Given the description of an element on the screen output the (x, y) to click on. 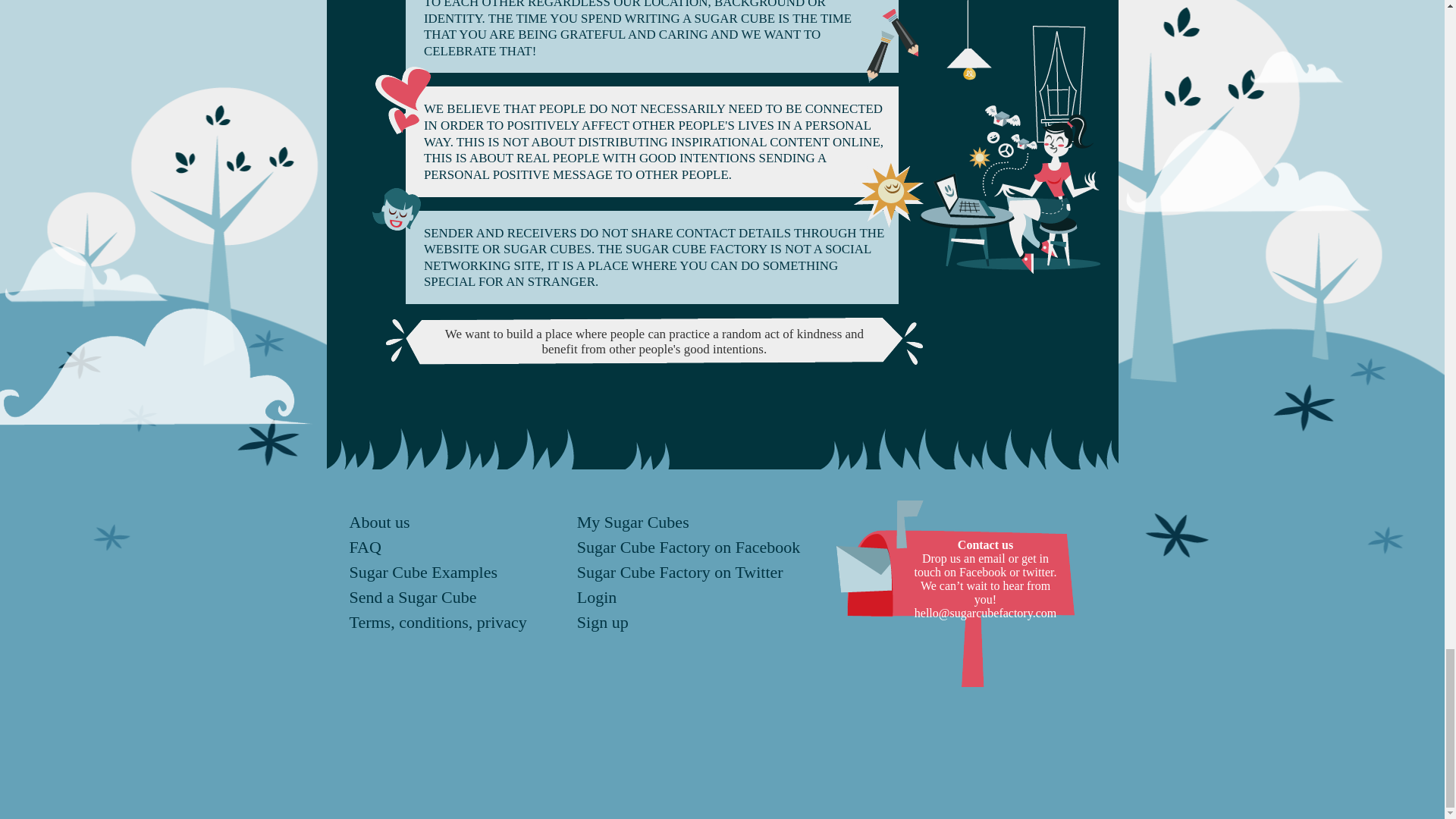
My Sugar Cubes (632, 521)
FAQ (364, 546)
Sugar Cube Factory on Facebook (688, 546)
Send a Sugar Cube (412, 597)
Sugar Cube Factory on Twitter (679, 571)
Sign up (602, 621)
About us (379, 521)
Terms, conditions, privacy (437, 621)
Sugar Cube Examples (423, 571)
Login (596, 597)
